Given the description of an element on the screen output the (x, y) to click on. 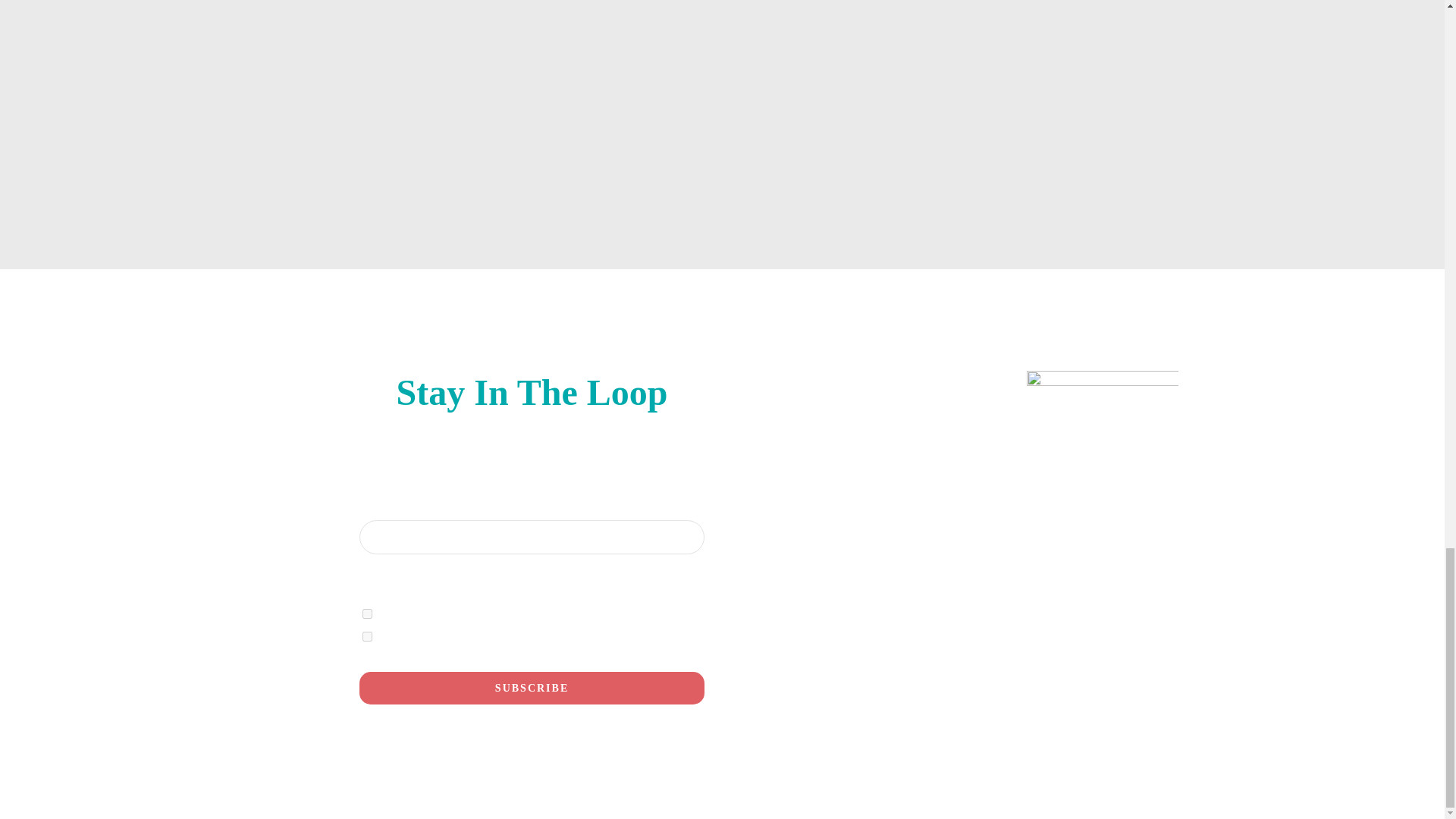
1 (367, 614)
2 (367, 636)
Subscribe (531, 687)
